Given the description of an element on the screen output the (x, y) to click on. 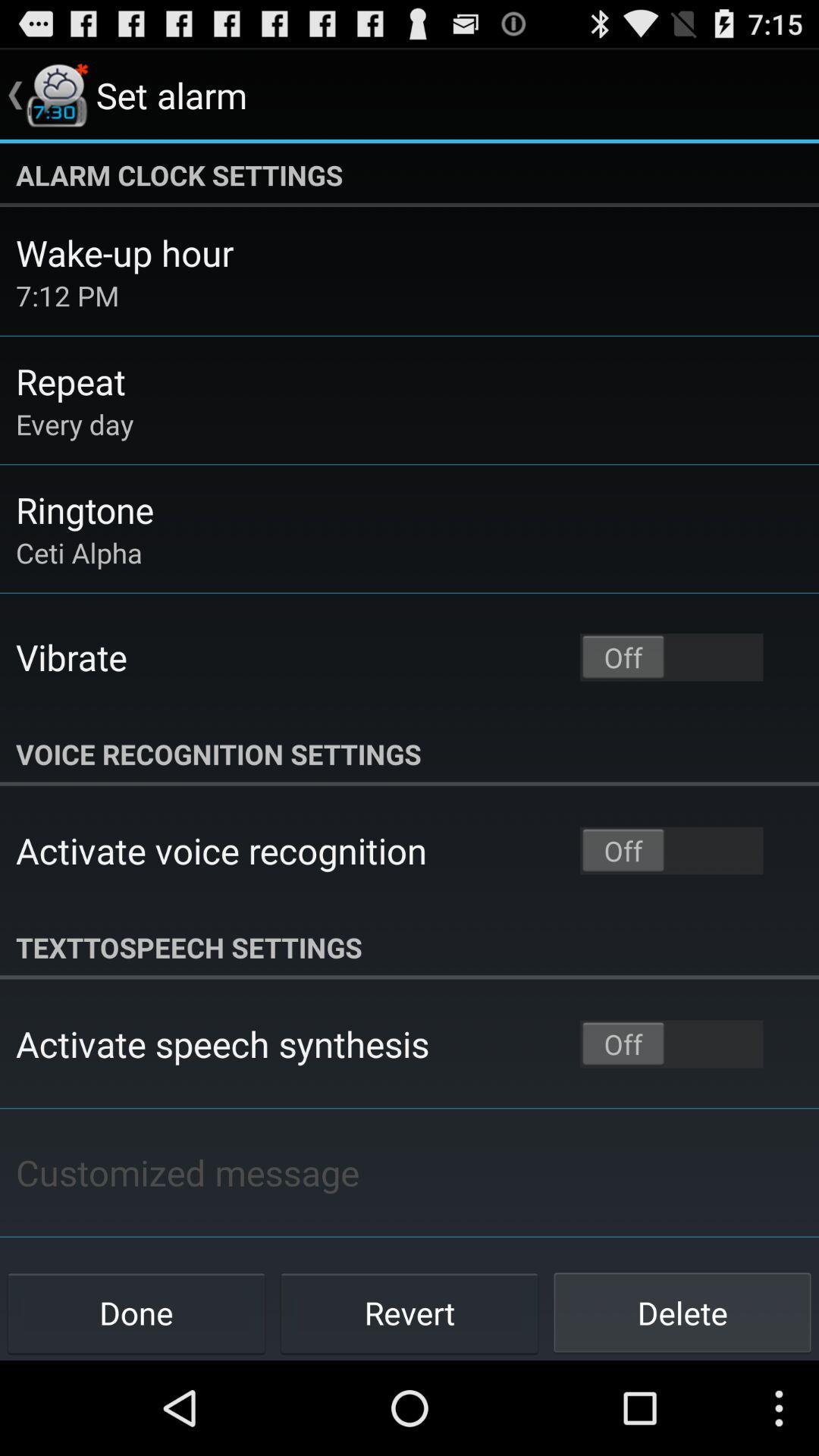
launch the button next to the done button (409, 1312)
